Given the description of an element on the screen output the (x, y) to click on. 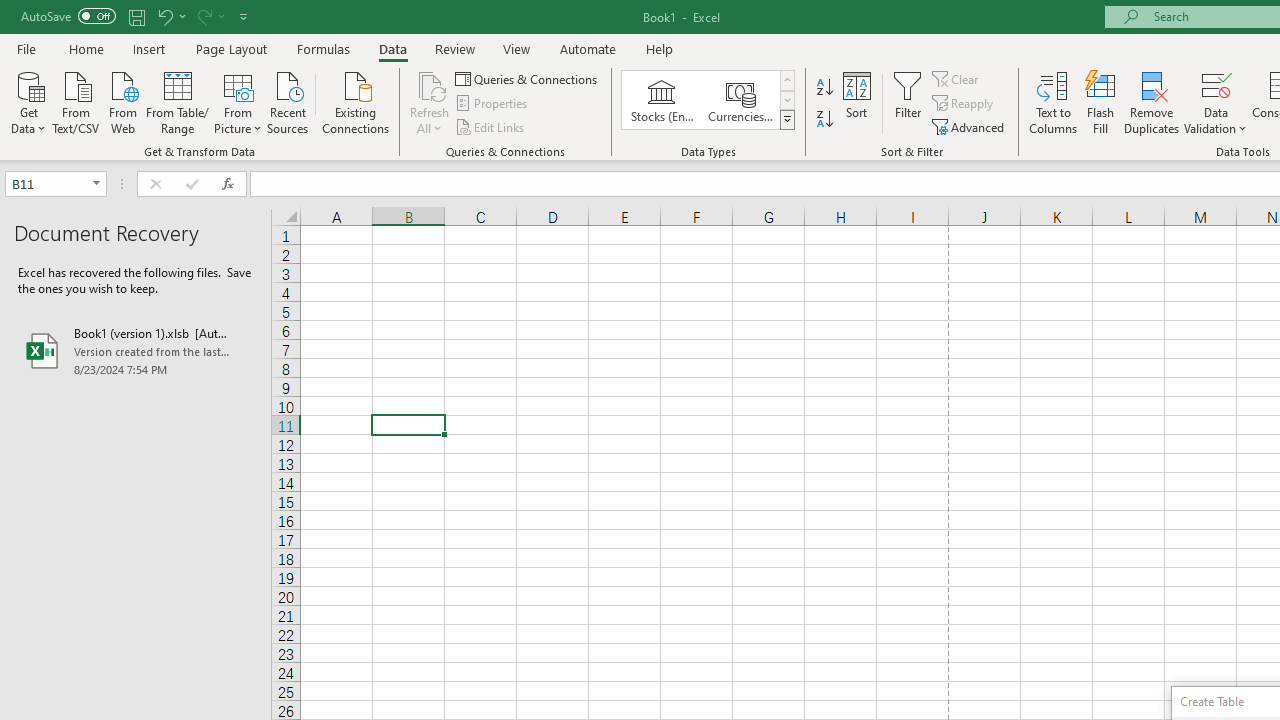
AutomationID: ConvertToLinkedEntity (708, 99)
Sort... (856, 102)
